Given the description of an element on the screen output the (x, y) to click on. 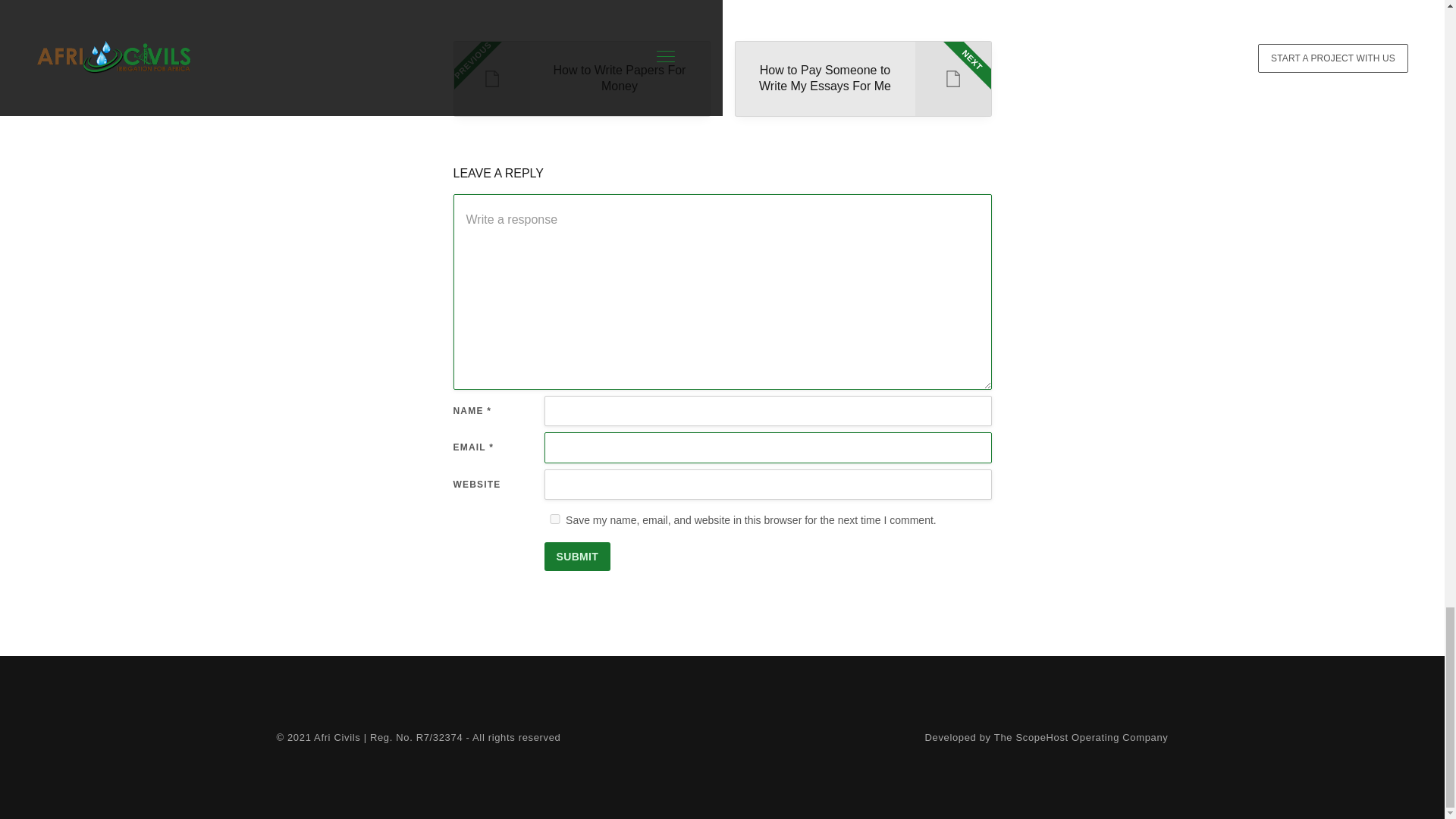
Submit (577, 556)
Submit (577, 556)
yes (581, 78)
Developed by The ScopeHost Operating Company (862, 78)
